Given the description of an element on the screen output the (x, y) to click on. 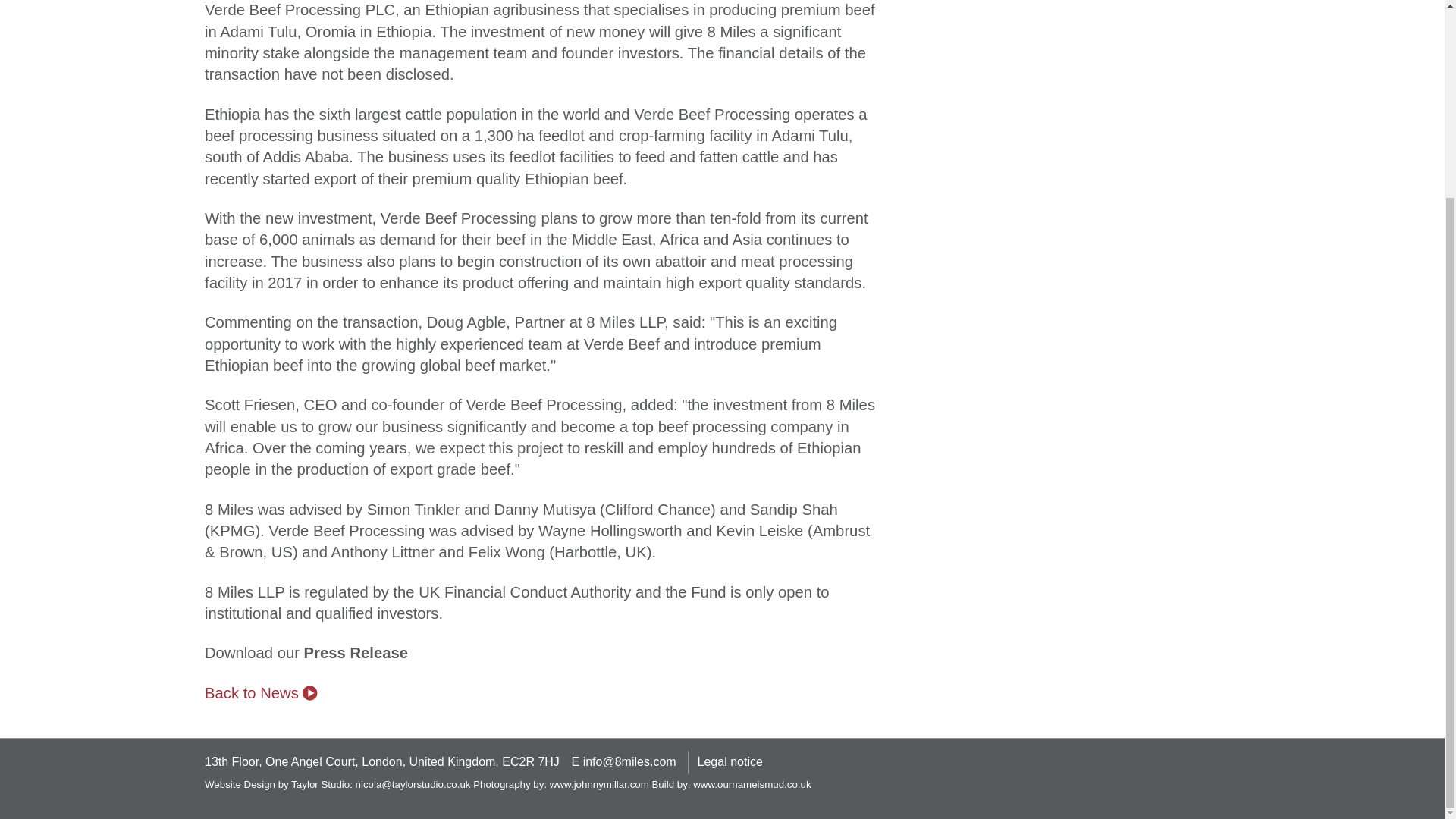
Back to News (261, 692)
www.johnnymillar.com (599, 784)
Legal notice (729, 761)
www.ournameismud.co.uk (751, 784)
Press Release (355, 652)
